Given the description of an element on the screen output the (x, y) to click on. 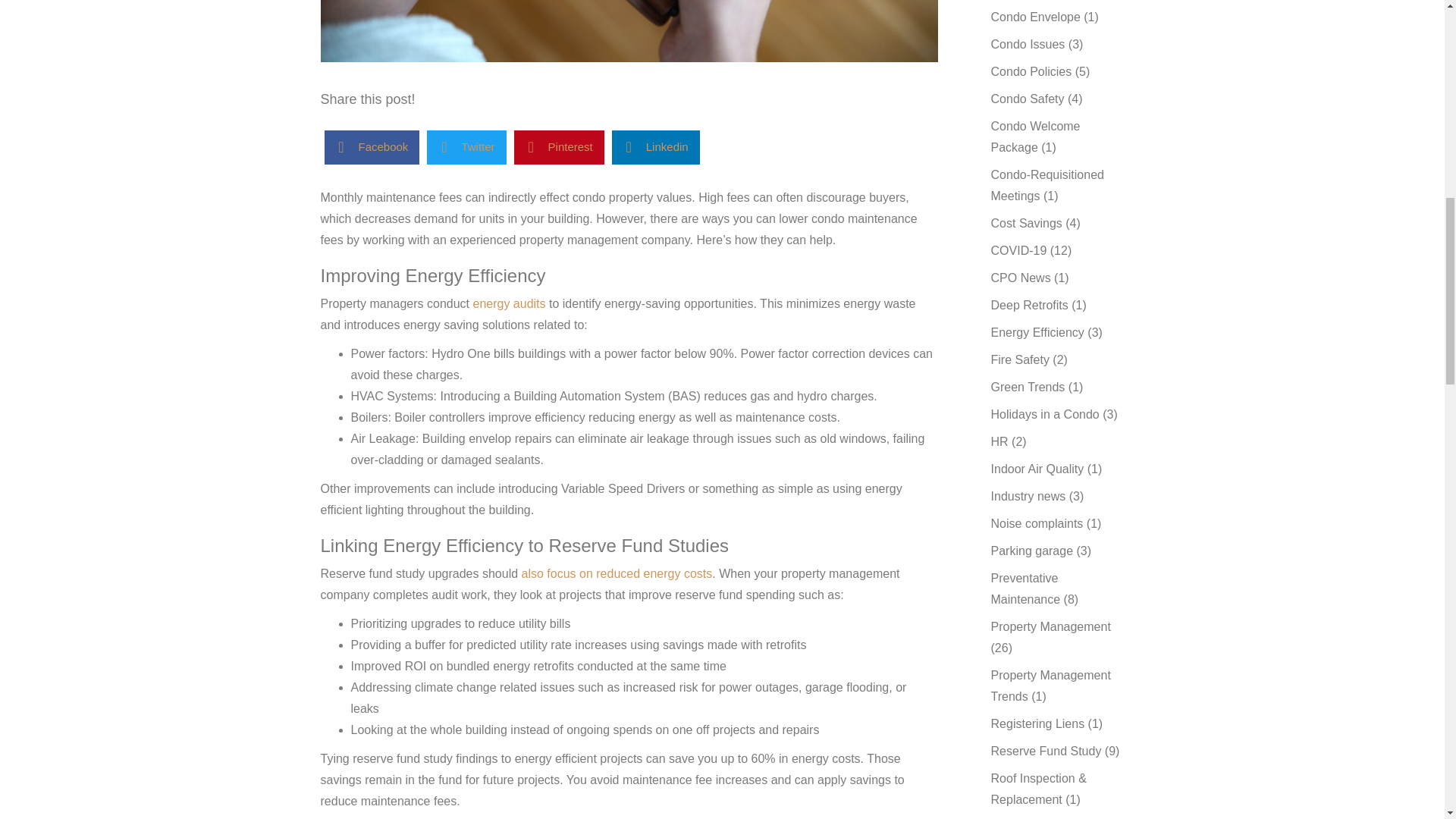
lower maintenance fees (628, 31)
